Given the description of an element on the screen output the (x, y) to click on. 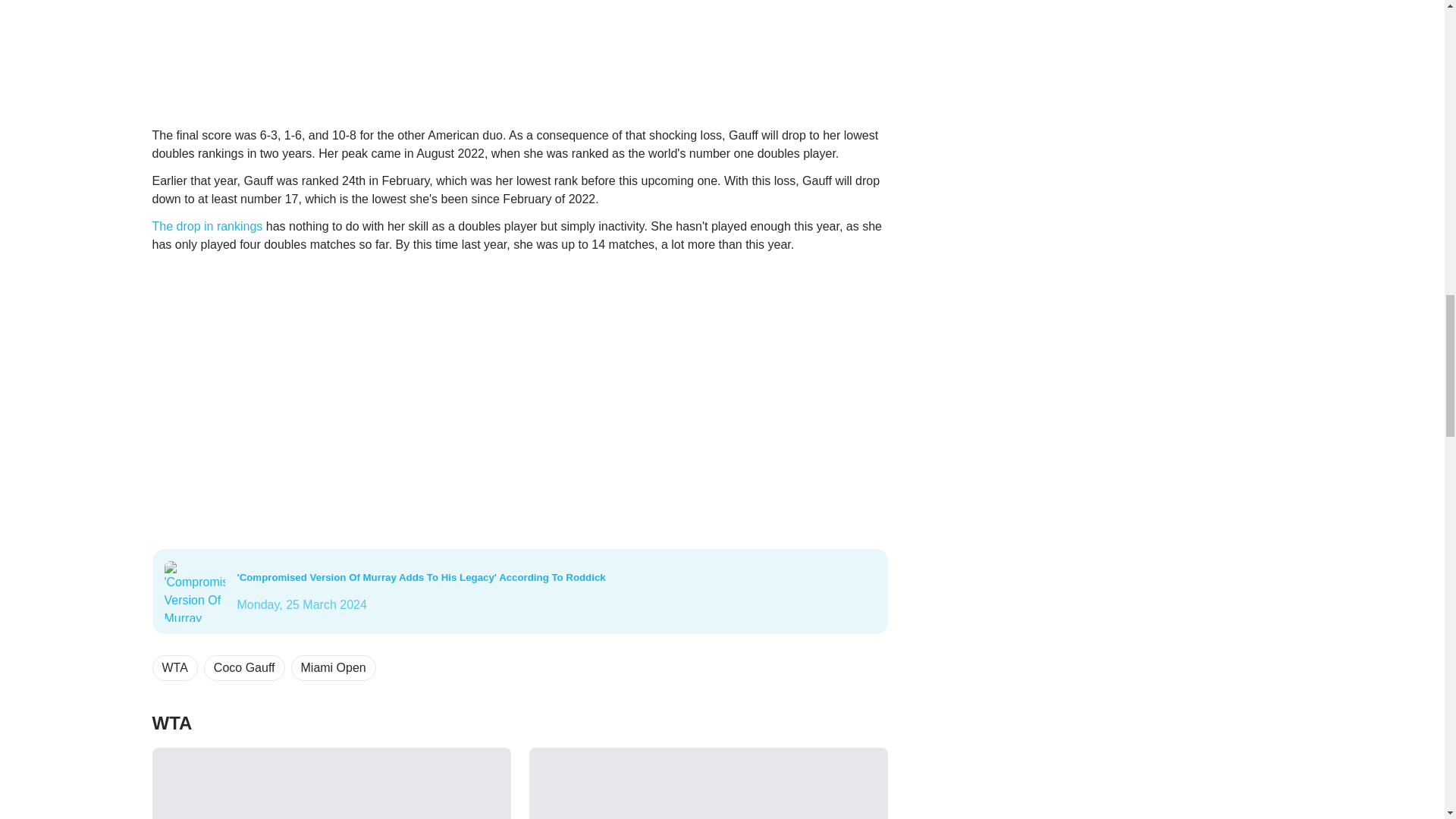
The drop in rankings (206, 226)
WTA (173, 667)
